Given the description of an element on the screen output the (x, y) to click on. 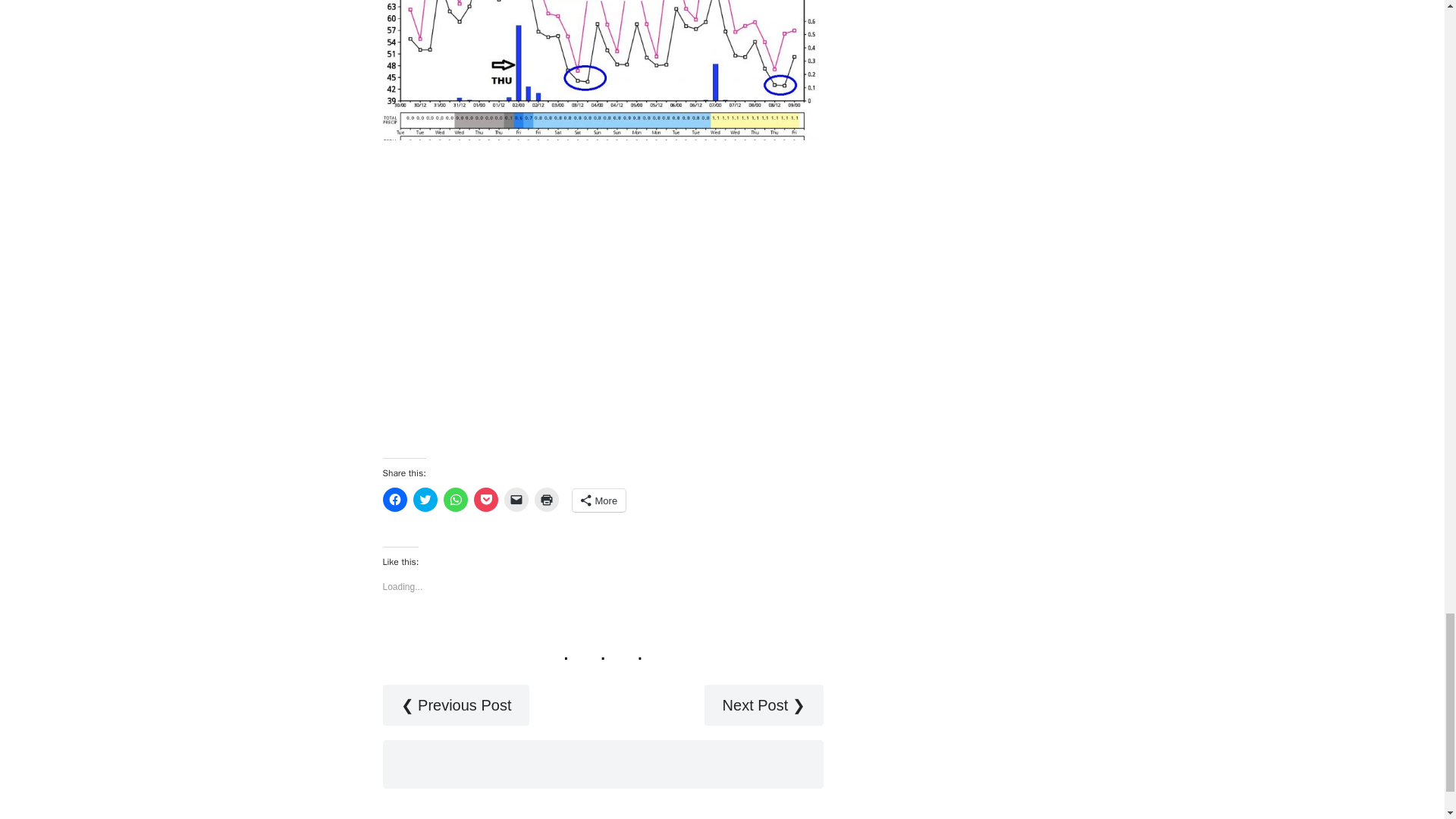
Click to share on Pocket (485, 499)
Click to share on Facebook (393, 499)
Click to share on Twitter (424, 499)
Click to share on WhatsApp (454, 499)
Click to print (545, 499)
Click to email a link to a friend (515, 499)
More (599, 499)
